Given the description of an element on the screen output the (x, y) to click on. 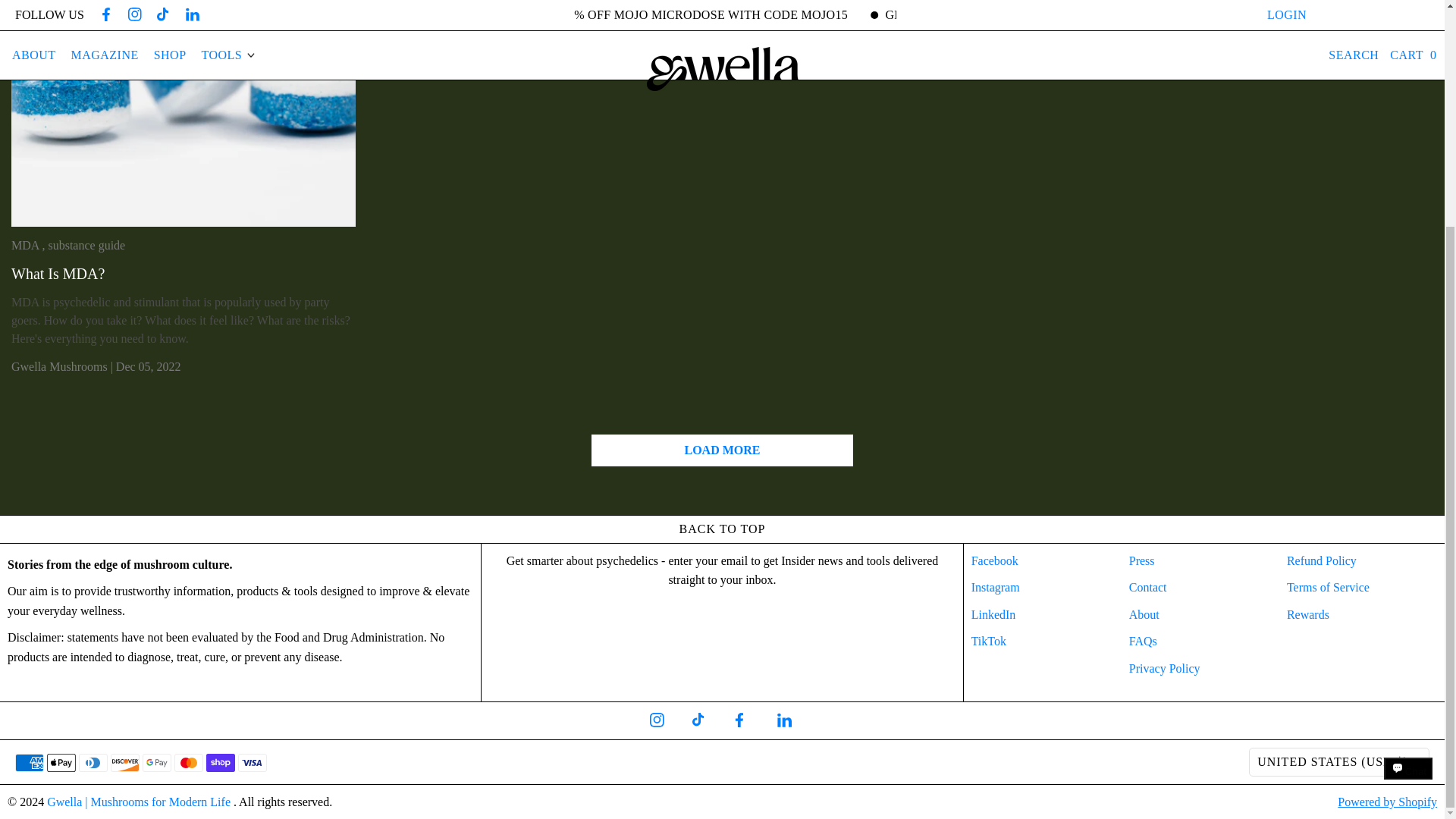
Shop Pay (220, 762)
Discover (124, 762)
Visa (252, 762)
Shopify online store chat (1408, 478)
Diners Club (92, 762)
American Express (28, 762)
Apple Pay (60, 762)
Mastercard (188, 762)
Google Pay (156, 762)
